Given the description of an element on the screen output the (x, y) to click on. 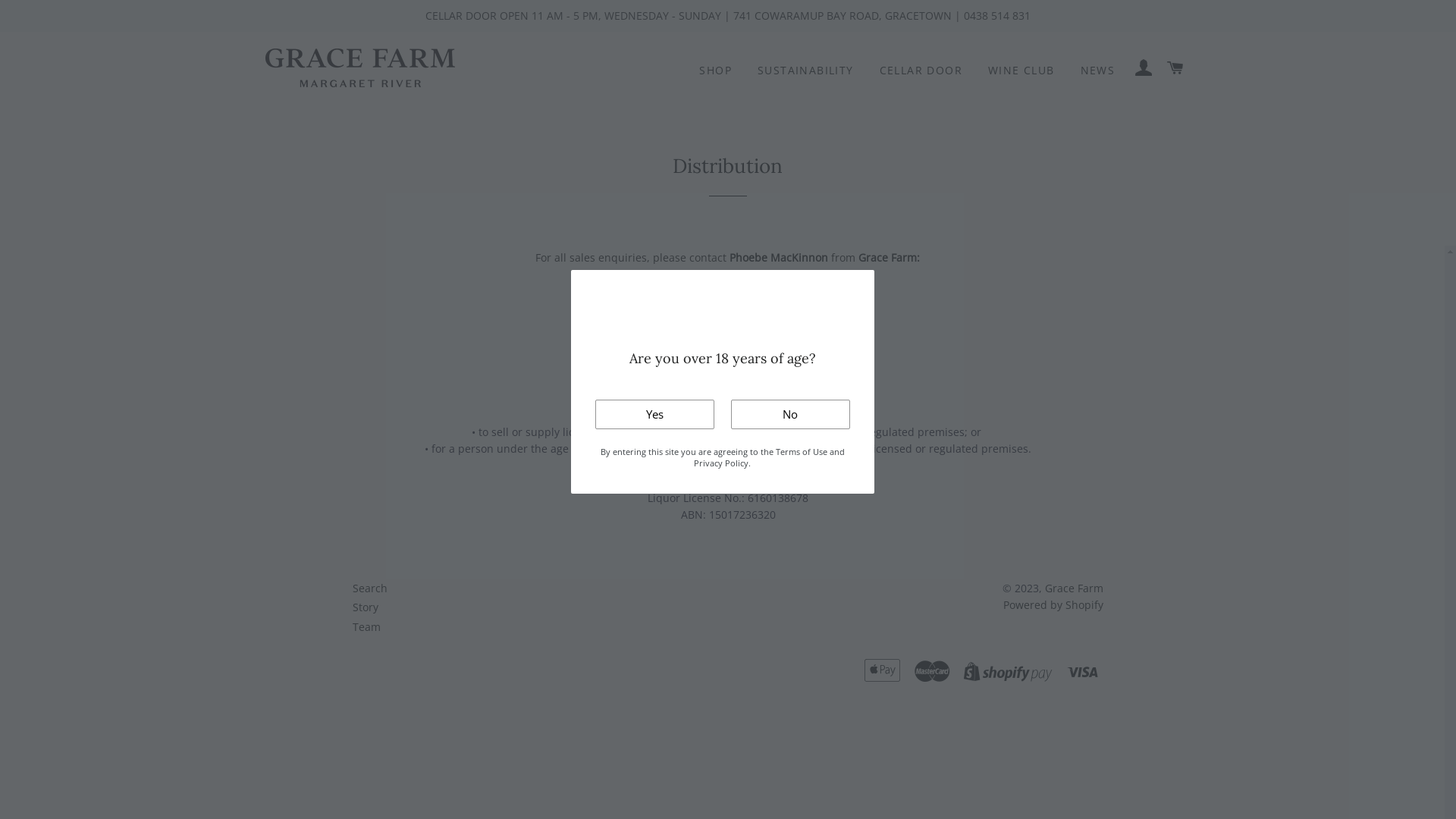
No Element type: text (790, 414)
Search Element type: text (369, 587)
SHOP Element type: text (715, 70)
Yes Element type: text (653, 414)
+61 433 043 579 Element type: text (649, 274)
Grace Farm Element type: text (1073, 587)
Story Element type: text (365, 606)
CELLAR DOOR Element type: text (920, 70)
Cart Element type: text (1175, 67)
WINE CLUB Element type: text (1021, 70)
Powered by Shopify Element type: text (1053, 604)
NEWS Element type: text (1097, 70)
Log In Element type: text (1143, 67)
SUSTAINABILITY Element type: text (805, 70)
Team Element type: text (366, 626)
